Given the description of an element on the screen output the (x, y) to click on. 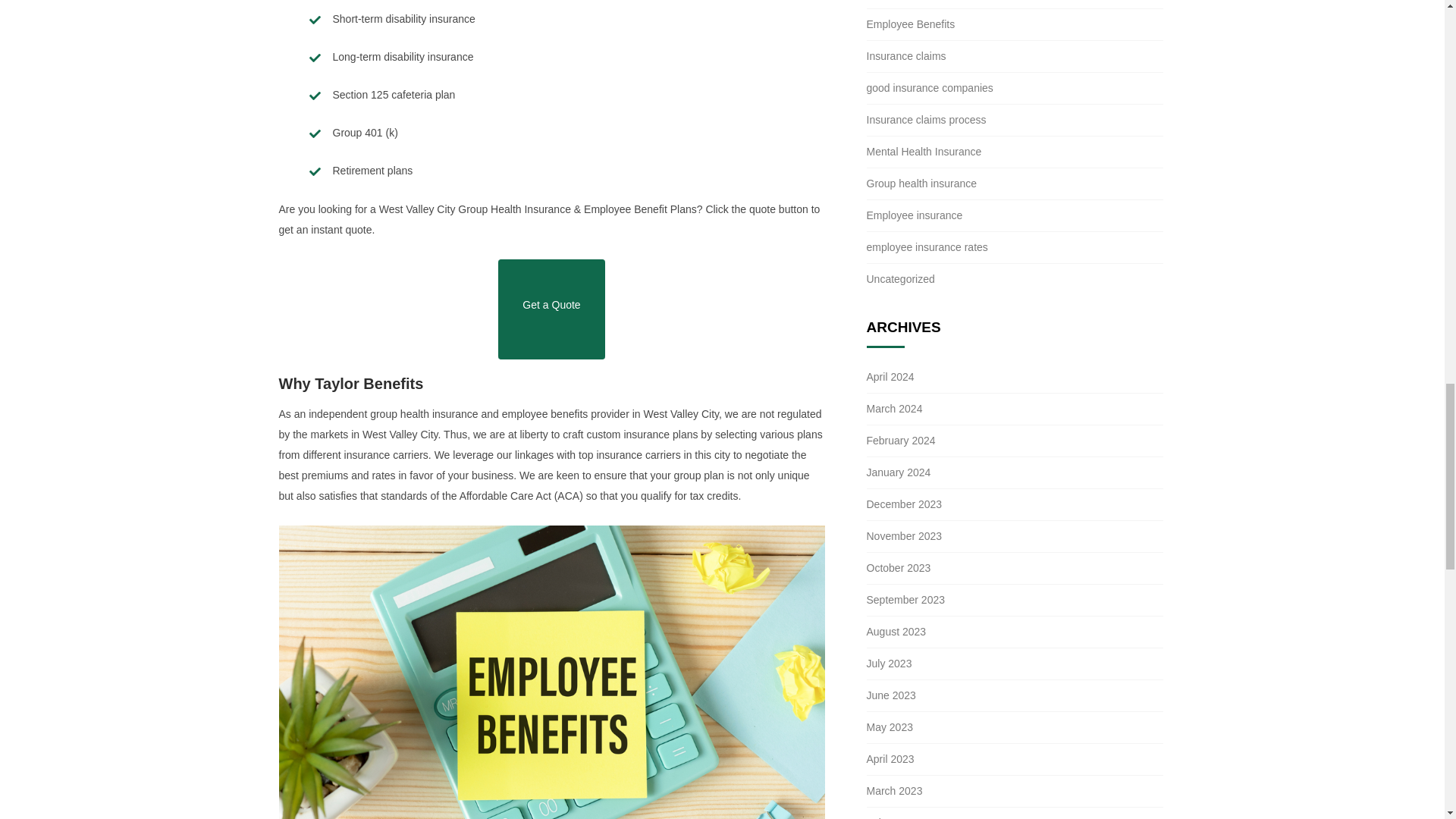
Get a Quote (550, 309)
